Given the description of an element on the screen output the (x, y) to click on. 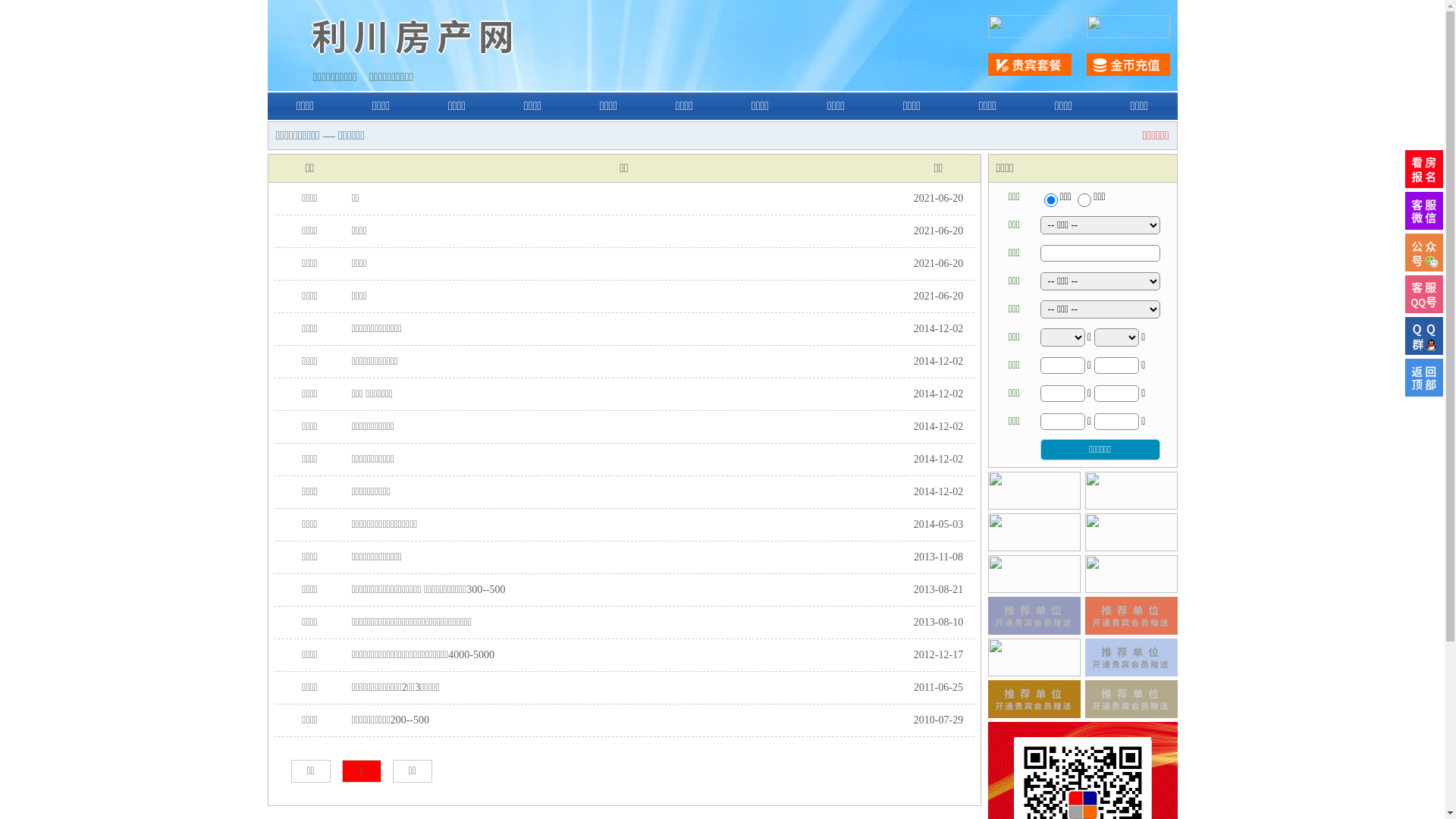
ershou Element type: text (1050, 200)
1 Element type: text (360, 770)
chuzu Element type: text (1084, 200)
